Given the description of an element on the screen output the (x, y) to click on. 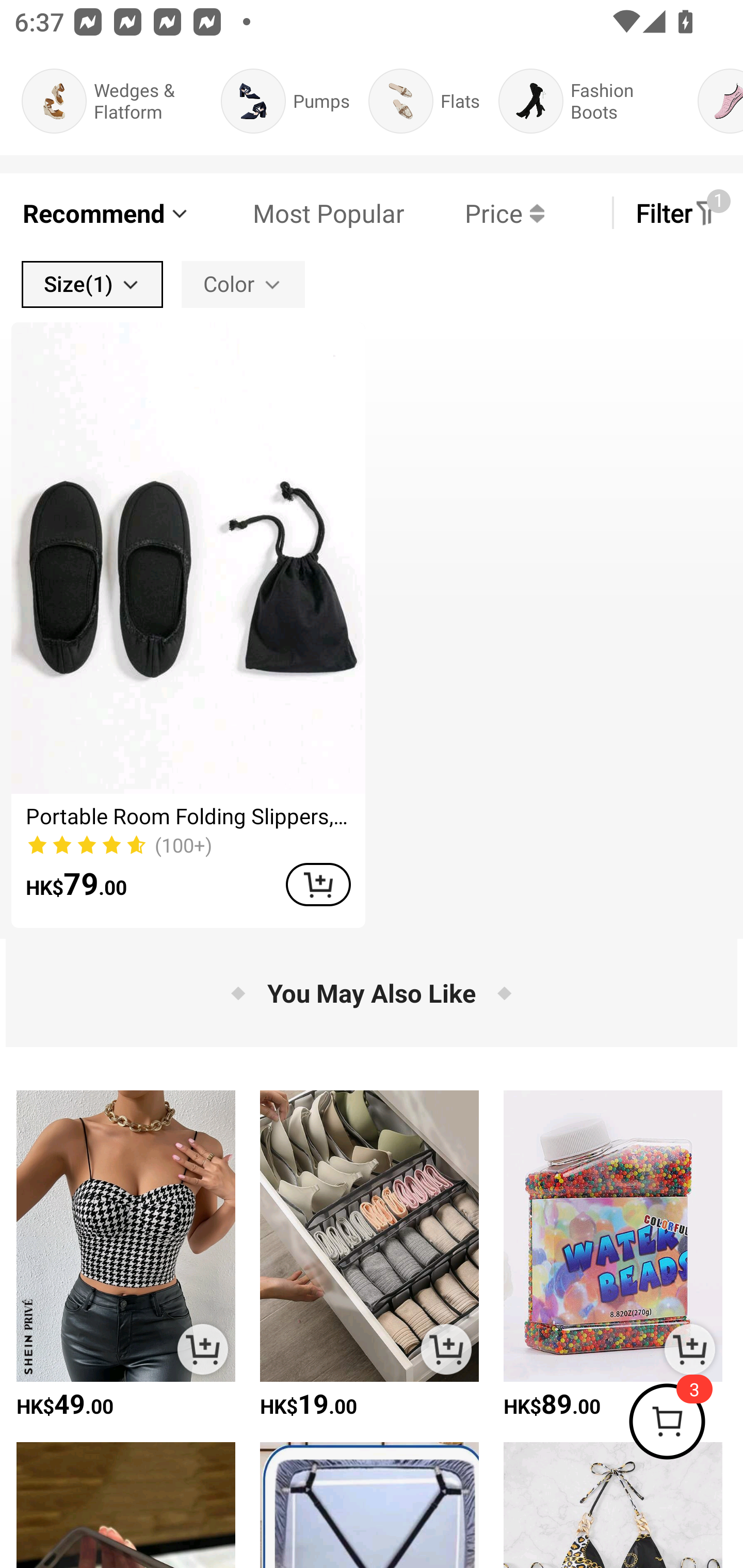
Wedges & Flatform (111, 100)
Pumps (284, 100)
Flats (423, 100)
Fashion Boots (588, 100)
Recommend (106, 213)
Most Popular (297, 213)
Price (474, 213)
Filter 1 (677, 213)
Size(1) (91, 283)
Color (242, 283)
ADD TO CART (318, 884)
You May Also Like (371, 993)
ADD TO CART (202, 1349)
ADD TO CART (445, 1349)
ADD TO CART (689, 1349)
